Given the description of an element on the screen output the (x, y) to click on. 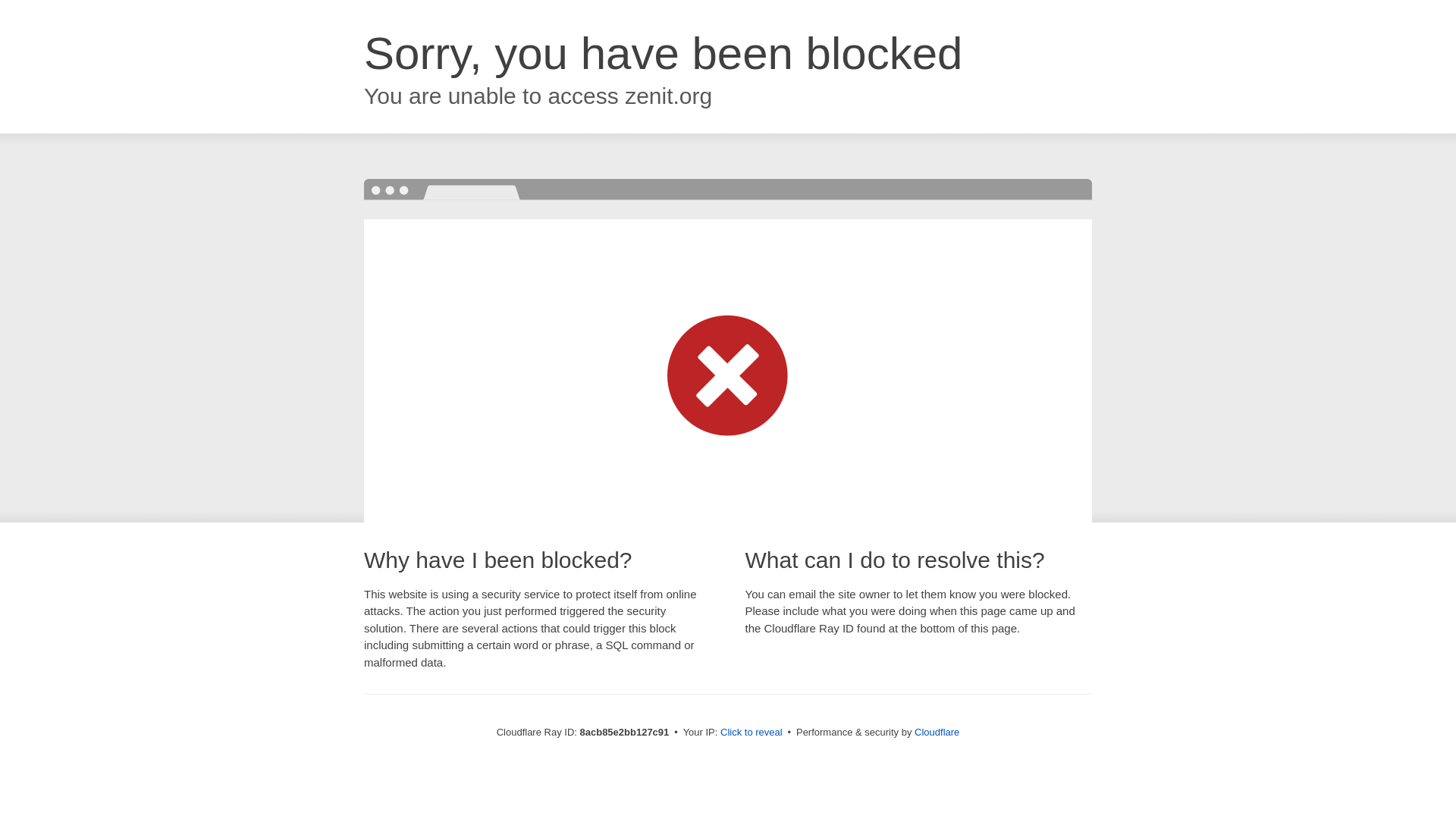
Click to reveal (751, 732)
Cloudflare (936, 731)
